Given the description of an element on the screen output the (x, y) to click on. 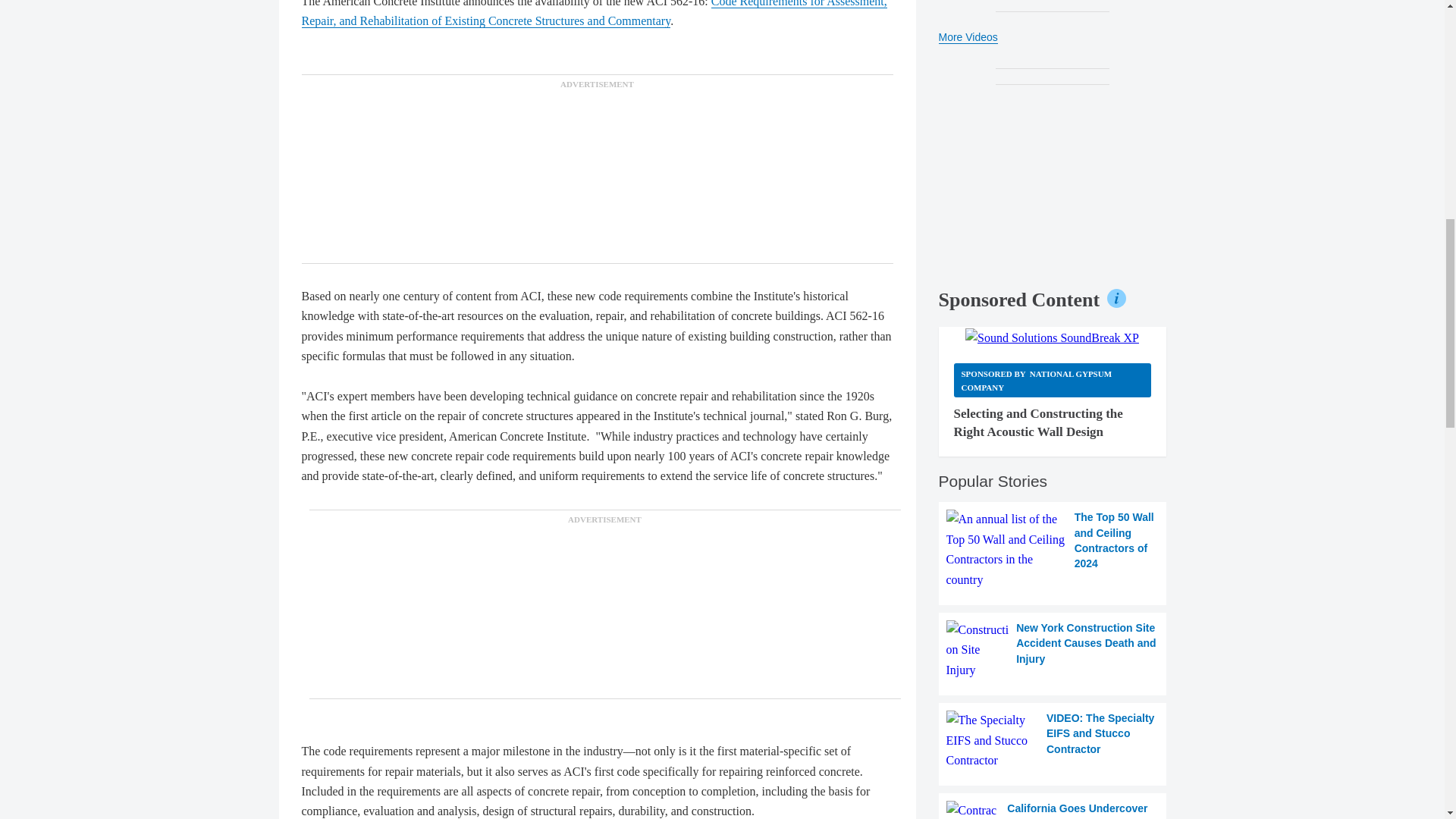
VIDEO: The Specialty EIFS and Stucco Contractor (1052, 740)
Sound Solutions SoundBreak XP (1051, 338)
Sponsored by National Gypsum Company (1052, 380)
California Goes Undercover to Catch Unlicensed Contractors (1052, 809)
New York Construction Site Accident Causes Death and Injury (1052, 649)
The Top 50 Wall and Ceiling Contractors of 2024 (1052, 549)
